Given the description of an element on the screen output the (x, y) to click on. 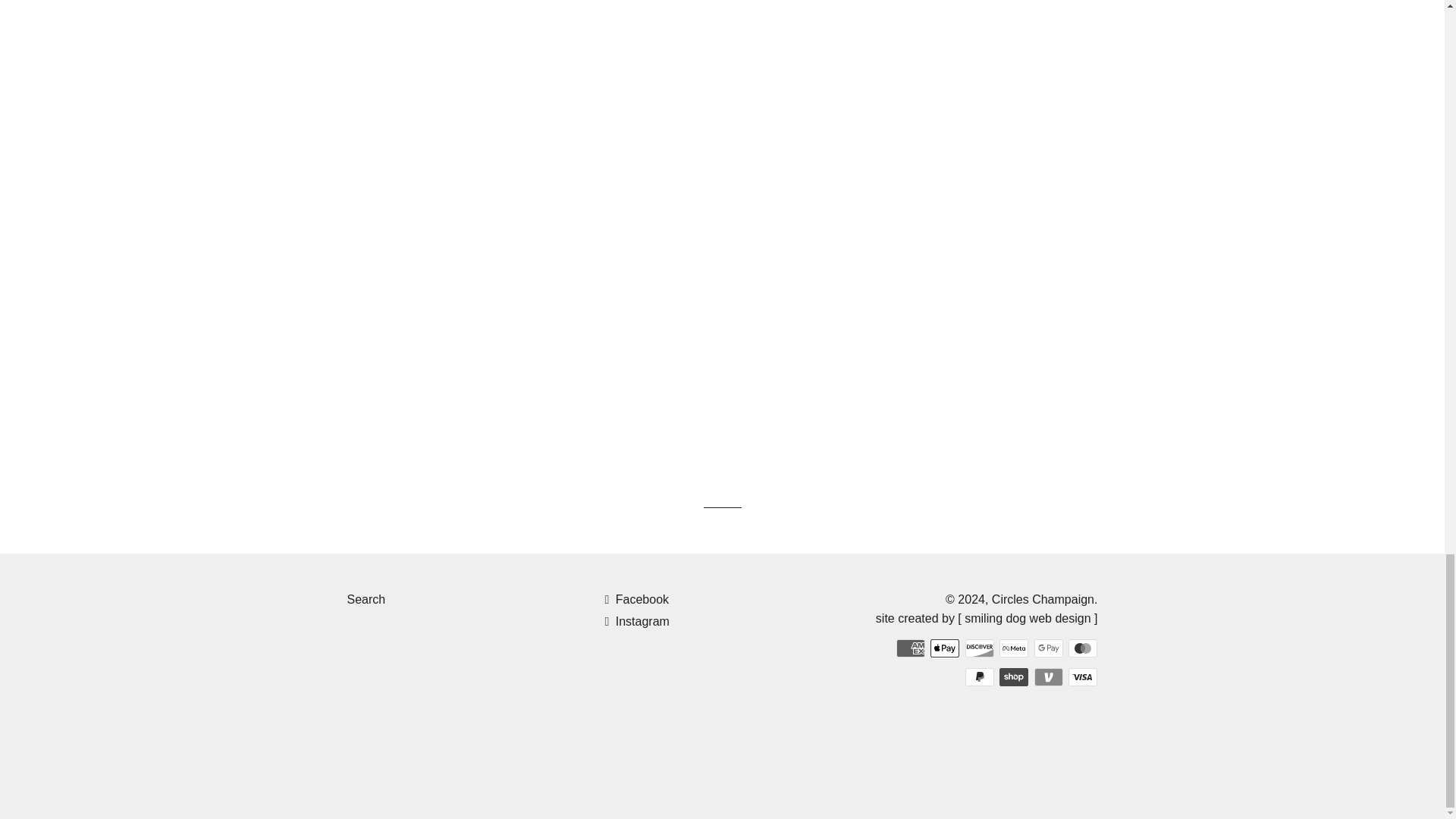
Meta Pay (1012, 648)
Venmo (1047, 677)
Shop Pay (1012, 677)
Circles Champaign on Facebook (636, 599)
American Express (910, 648)
Apple Pay (944, 648)
Circles Champaign on Instagram (636, 621)
Mastercard (1082, 648)
Discover (979, 648)
Google Pay (1047, 648)
